Given the description of an element on the screen output the (x, y) to click on. 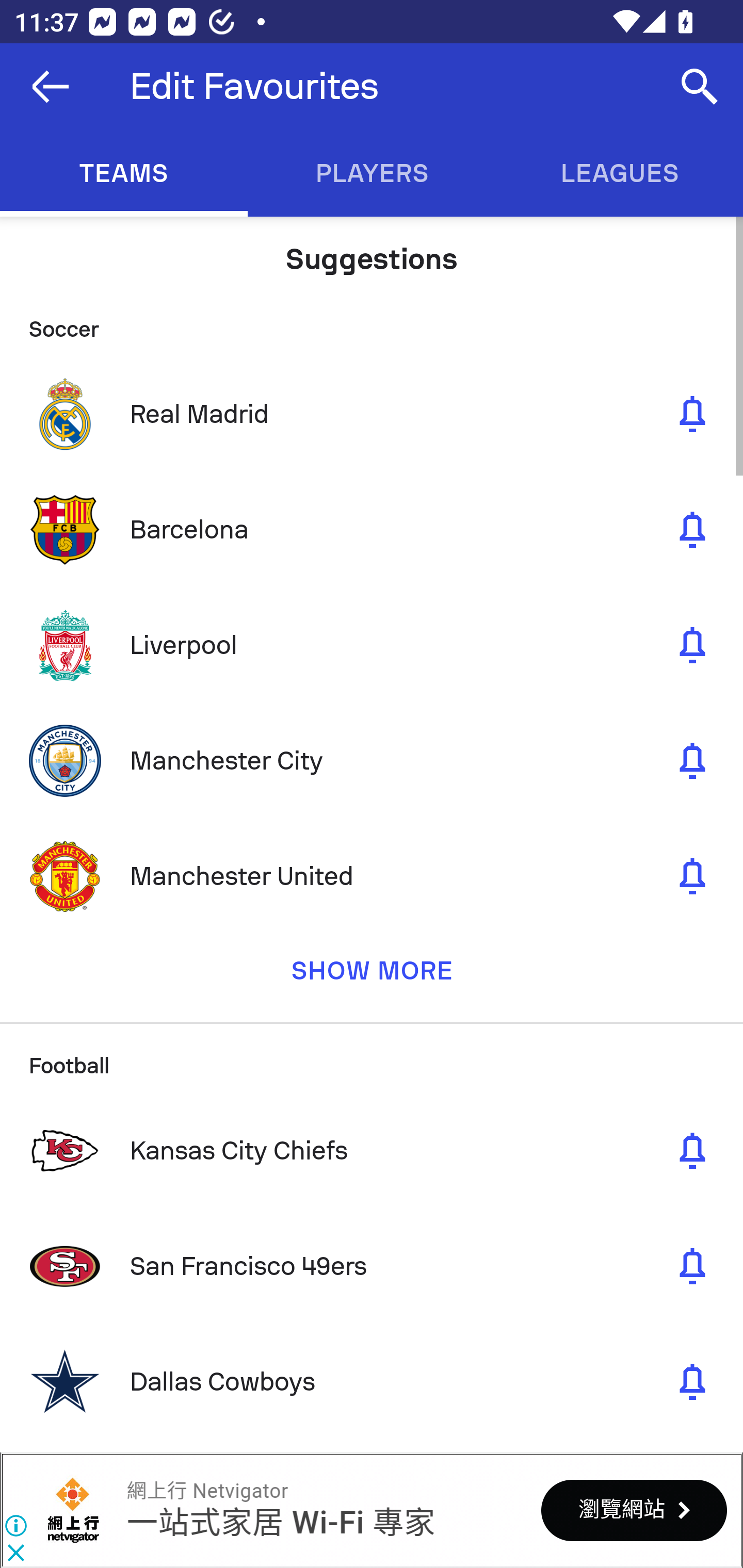
Navigate up (50, 86)
Search (699, 86)
Players PLAYERS (371, 173)
Leagues LEAGUES (619, 173)
Suggestions (371, 251)
Soccer (371, 320)
Real Madrid (371, 413)
Barcelona (371, 529)
Liverpool (371, 645)
Manchester City (371, 760)
Manchester United (371, 876)
SHOW MORE (371, 978)
Football (371, 1057)
Kansas City Chiefs (371, 1150)
San Francisco 49ers (371, 1265)
Dallas Cowboys (371, 1381)
網上行 Netvigator (73, 1510)
網上行 Netvigator (206, 1491)
瀏覽網站 (634, 1509)
一站式家居 Wi-Fi 專家 (279, 1522)
